Given the description of an element on the screen output the (x, y) to click on. 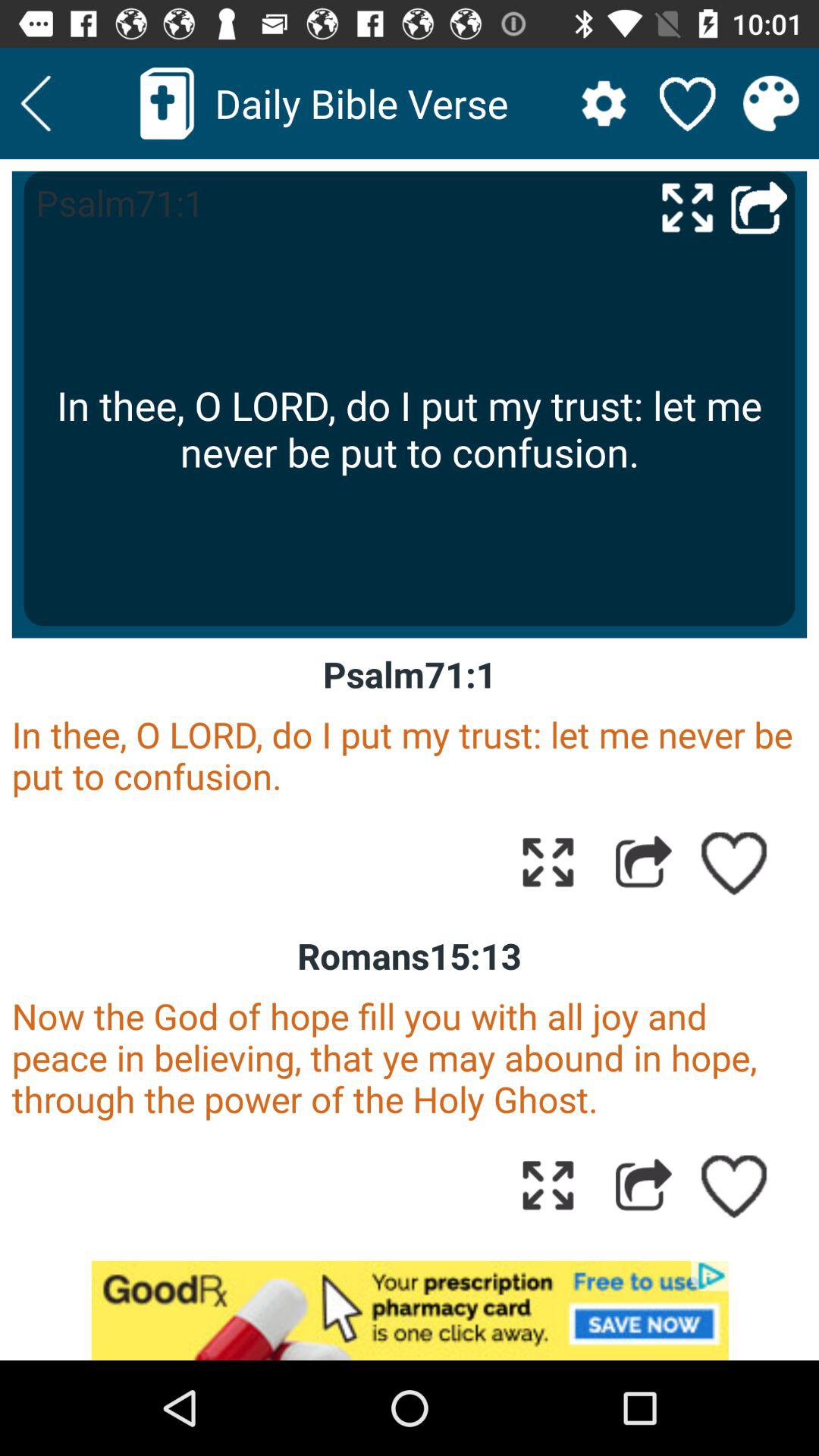
change the theme (771, 103)
